Given the description of an element on the screen output the (x, y) to click on. 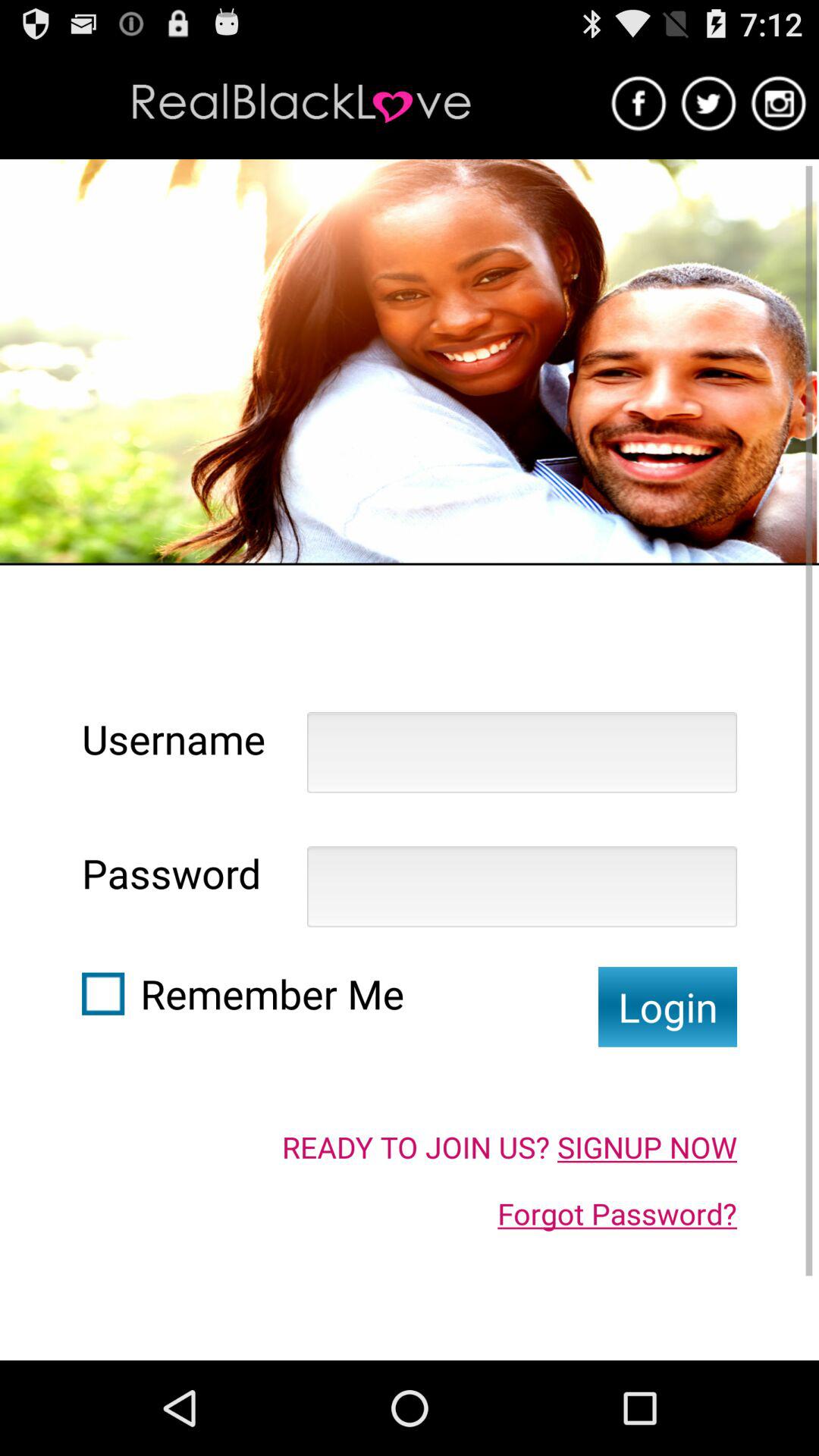
choose the icon next to remember me app (667, 1006)
